Given the description of an element on the screen output the (x, y) to click on. 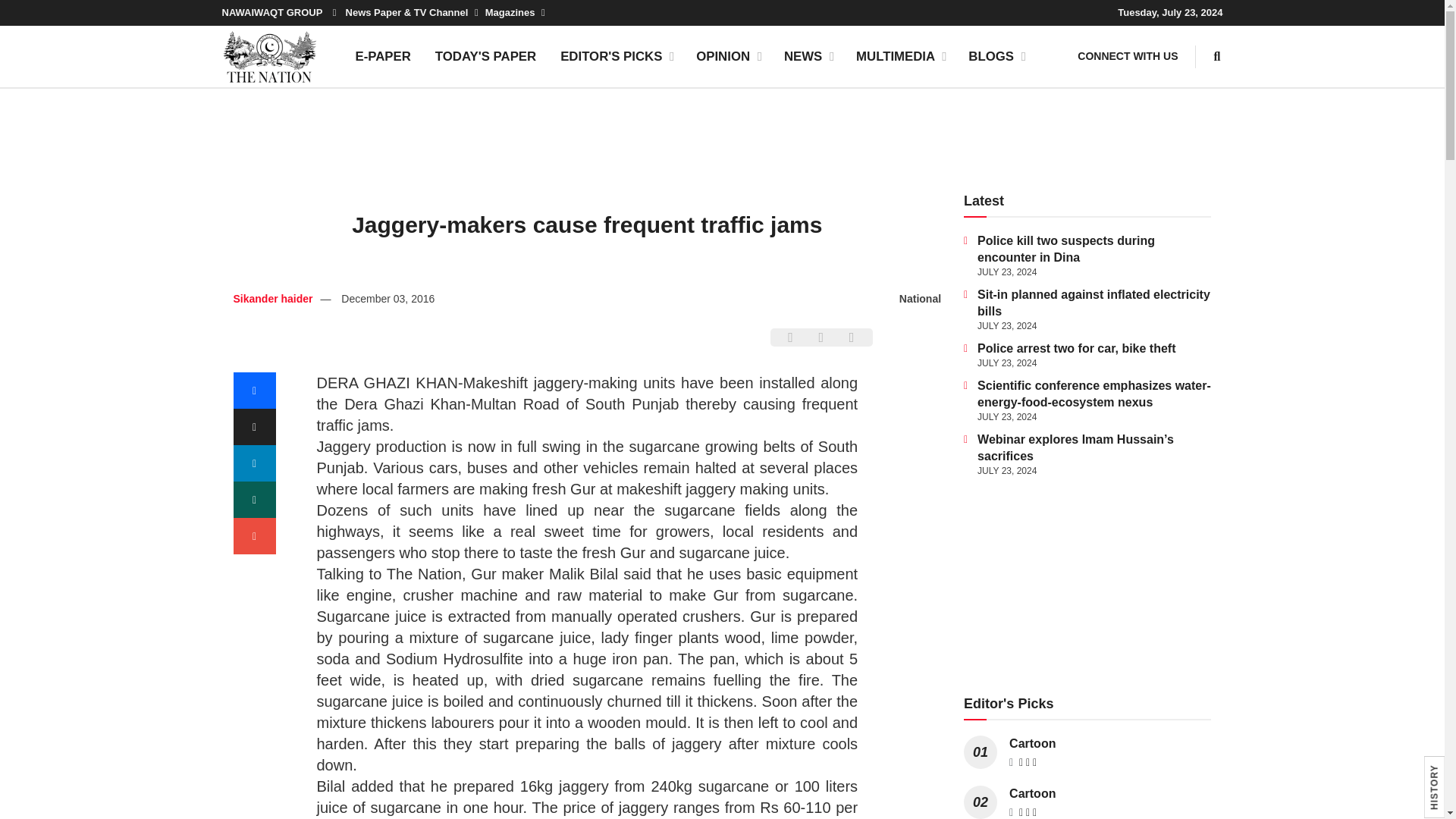
E-PAPER (382, 55)
OPINION (727, 55)
NEWS (807, 55)
TODAY'S PAPER (485, 55)
BLOGS (995, 55)
Magazines (513, 12)
MULTIMEDIA (900, 55)
EDITOR'S PICKS (616, 55)
